Given the description of an element on the screen output the (x, y) to click on. 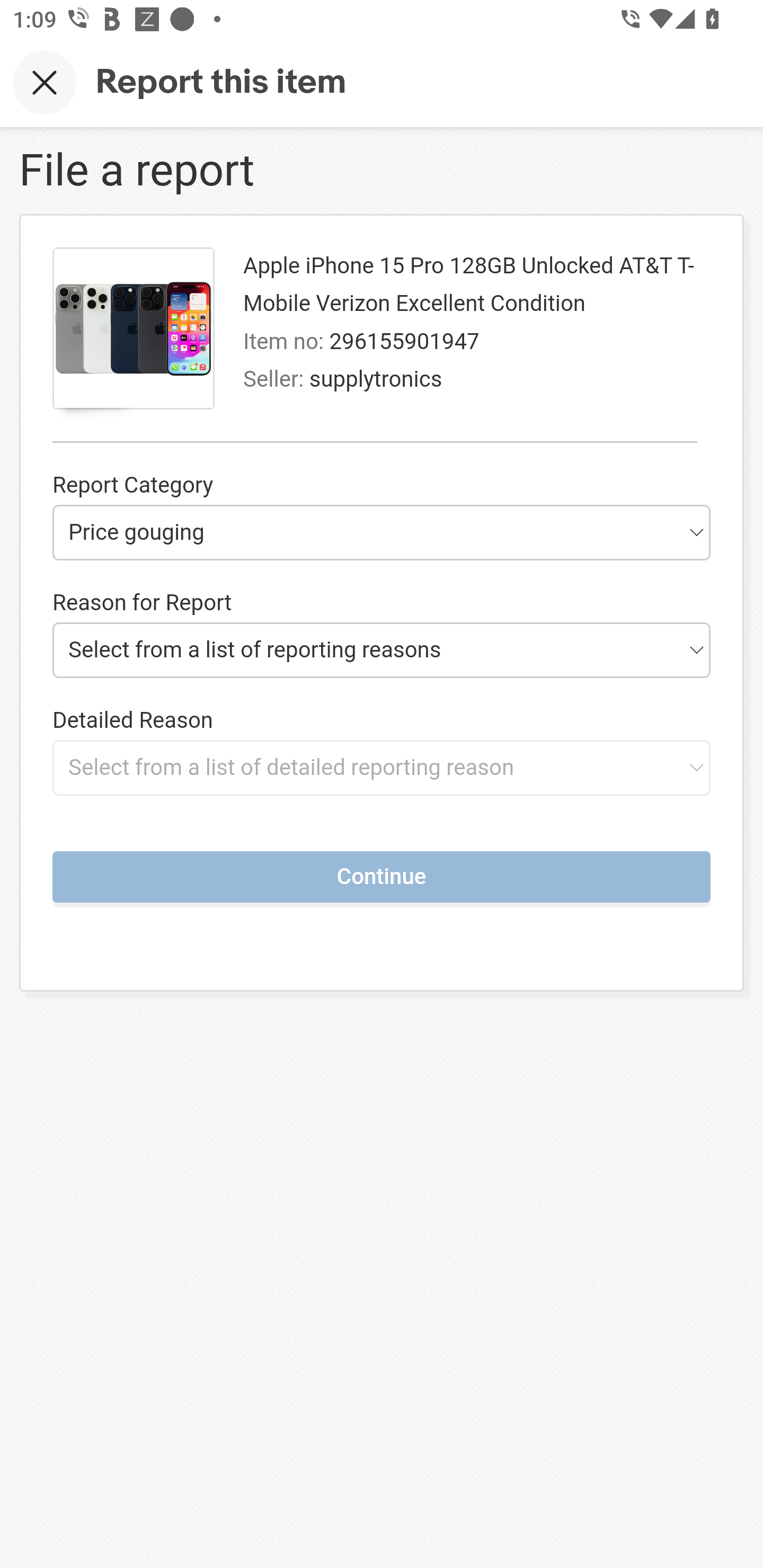
Close (44, 82)
Price gouging (381, 532)
Select from a list of reporting reasons (381, 649)
Select from a list of detailed reporting reason (381, 767)
Continue (381, 876)
